Given the description of an element on the screen output the (x, y) to click on. 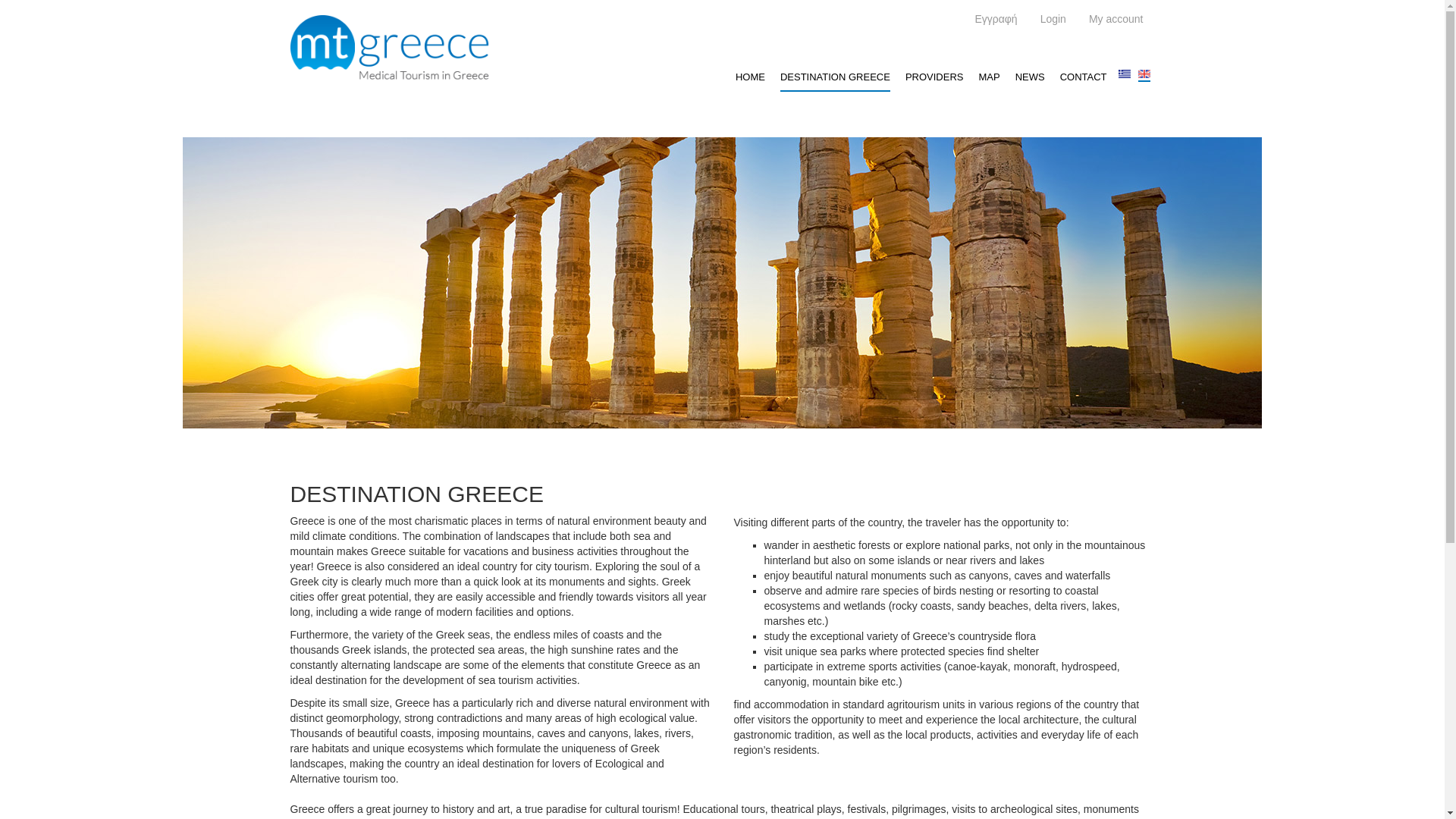
NEWS (1029, 76)
Login (1053, 19)
DESTINATION GREECE (834, 76)
HOME (750, 76)
CONTACT (1082, 76)
Home (389, 47)
My account (1115, 19)
English (1143, 73)
